Given the description of an element on the screen output the (x, y) to click on. 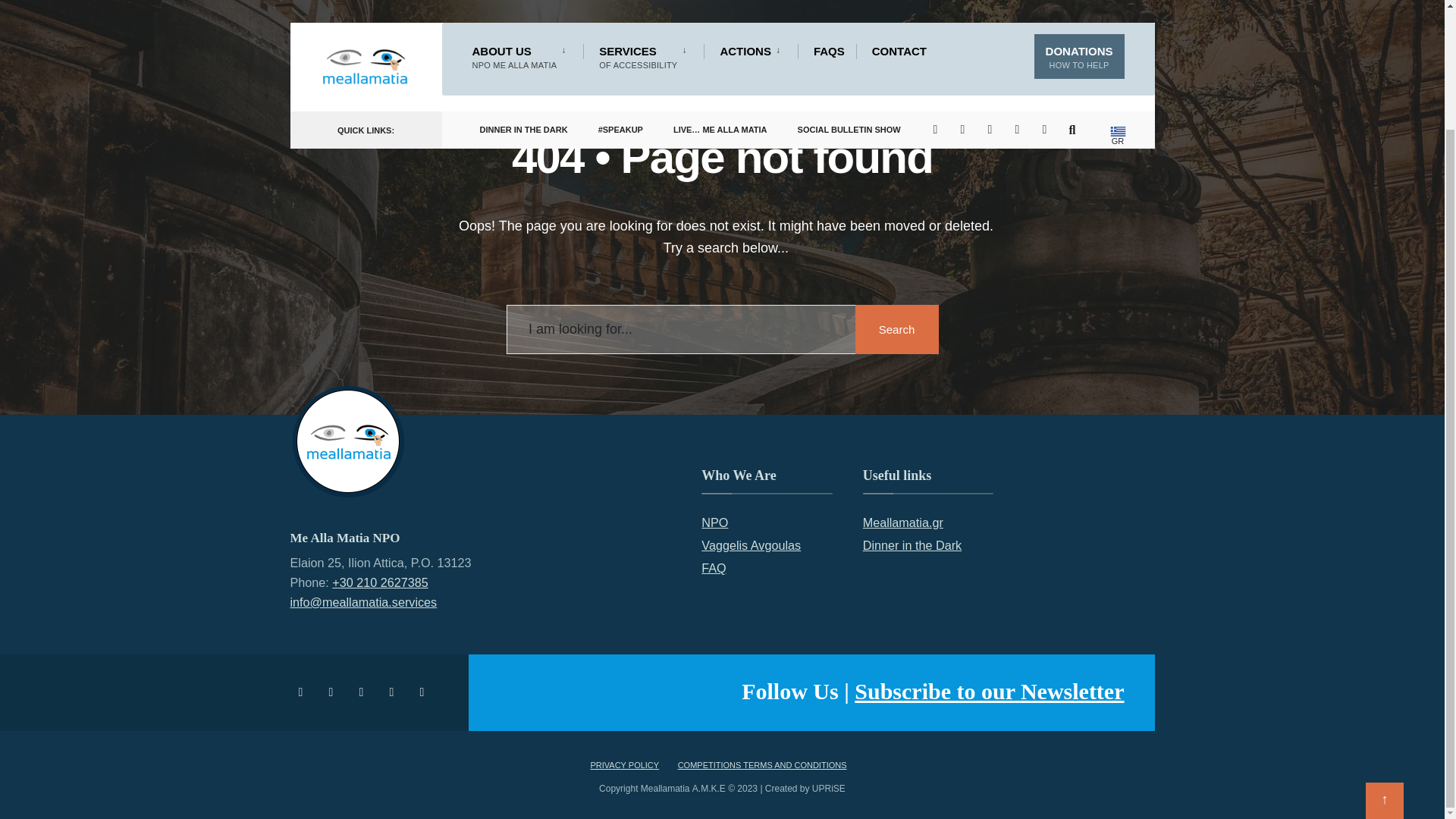
I am looking for... (722, 328)
LinkedIn (393, 692)
Scroll to top (1384, 659)
Instagram (333, 692)
Facebook (302, 692)
YouTube (363, 692)
TikTok (424, 692)
